Given the description of an element on the screen output the (x, y) to click on. 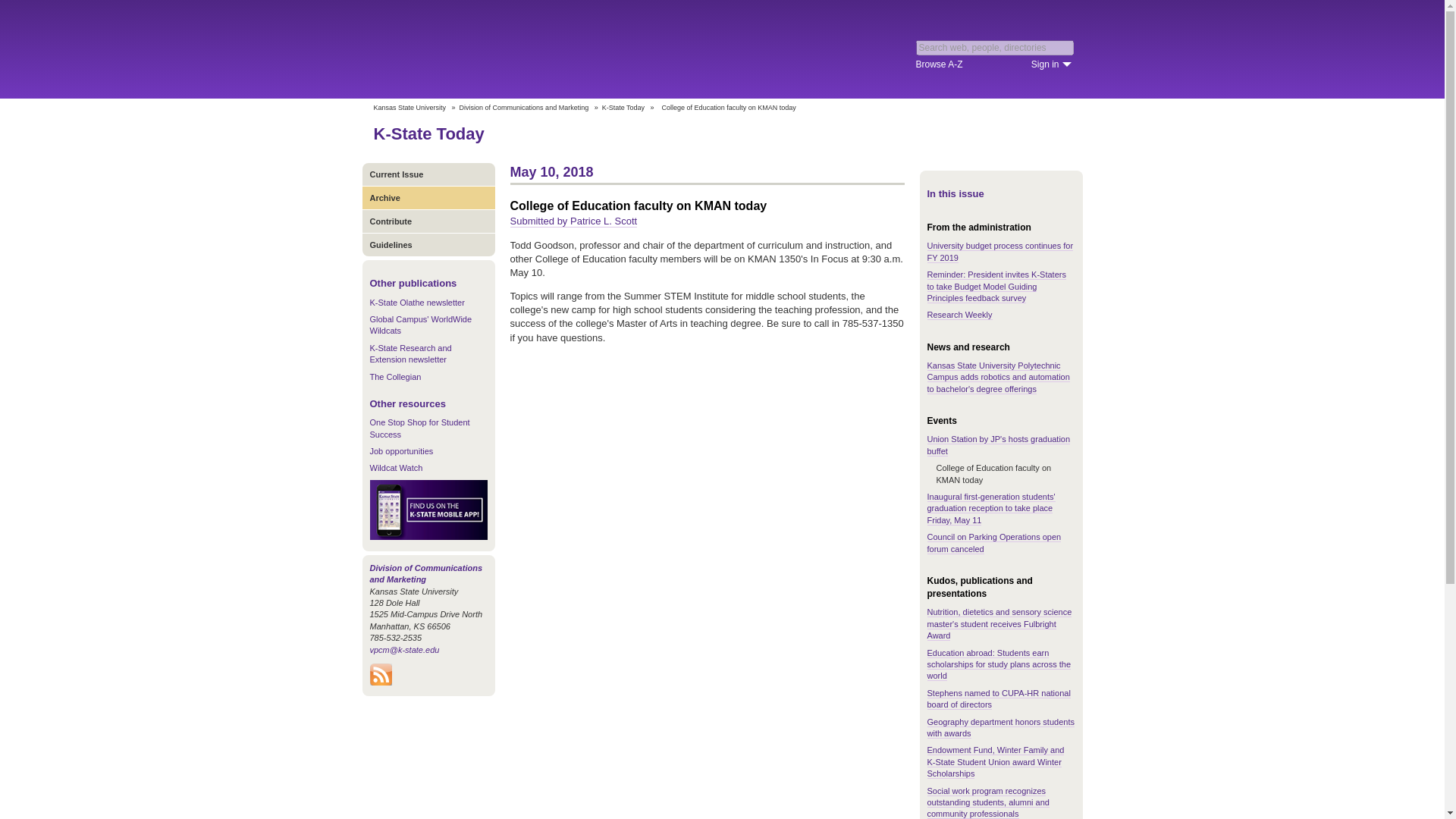
Union Station by JP's hosts graduation buffet (998, 444)
Archive (428, 197)
K-State Olathe newsletter (416, 302)
Kansas State University (408, 107)
Research Weekly (958, 315)
Subscribe to K-State Today RSS feeds (380, 682)
The Collegian (395, 376)
Search web, people, directories (994, 47)
Guidelines (428, 244)
